Given the description of an element on the screen output the (x, y) to click on. 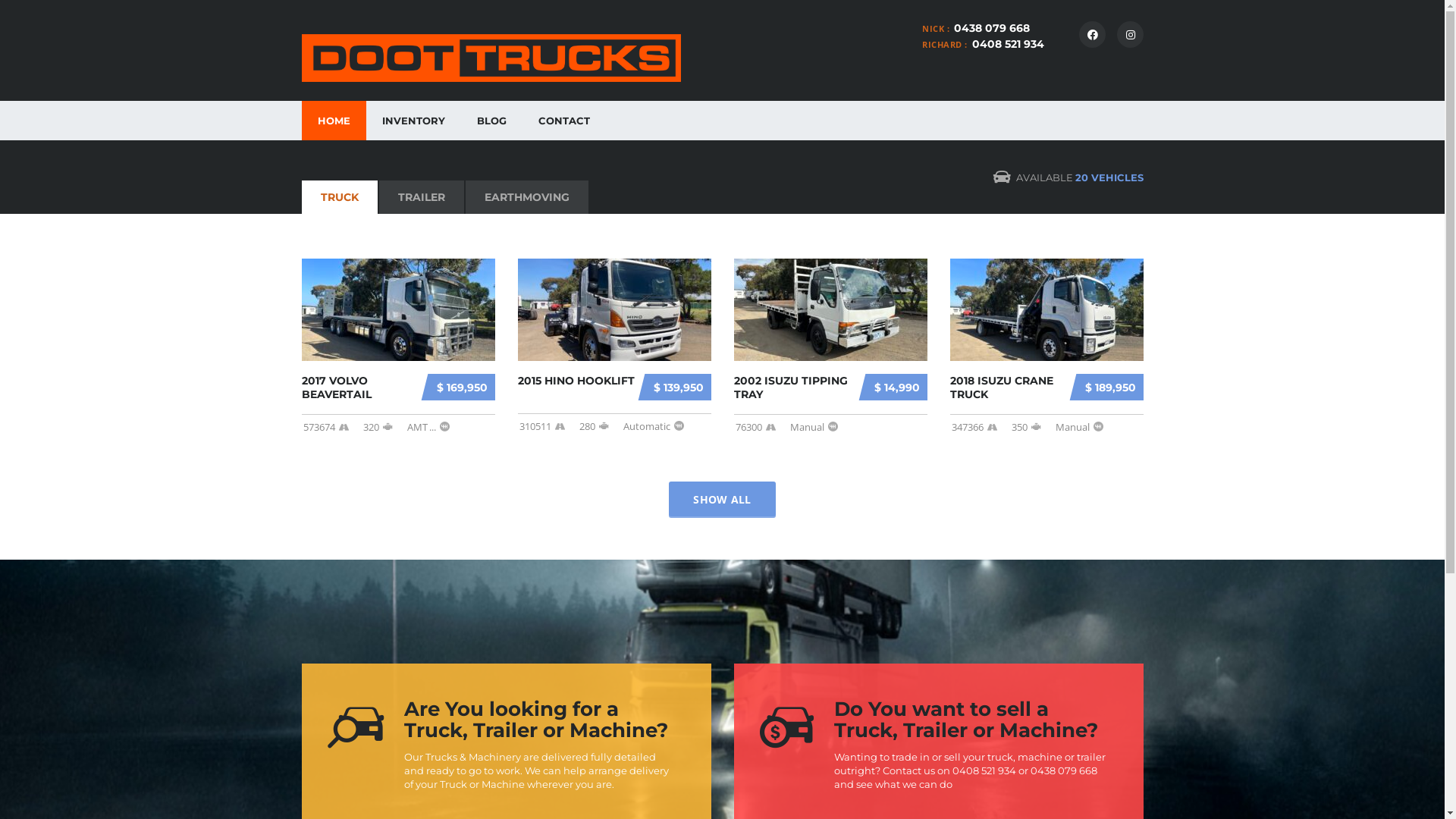
SHOW ALL Element type: text (721, 498)
Home Element type: hover (490, 57)
$ 189,950
2018 ISUZU CRANE TRUCK
347366
350
Manual Element type: text (1045, 346)
HOME Element type: text (333, 120)
TRAILER Element type: text (421, 196)
EARTHMOVING Element type: text (526, 196)
CONTACT Element type: text (563, 120)
TRUCK Element type: text (339, 196)
INVENTORY Element type: text (412, 120)
$ 139,950
2015 HINO HOOKLIFT
310511
280
Automatic Element type: text (613, 345)
$ 169,950
2017 VOLVO BEAVERTAIL
573674
320
AMT... Element type: text (398, 346)
$ 14,990
2002 ISUZU TIPPING TRAY
76300
Manual Element type: text (830, 346)
0408 521 934 Element type: text (1008, 43)
0438 079 668 Element type: text (991, 27)
BLOG Element type: text (491, 120)
